Given the description of an element on the screen output the (x, y) to click on. 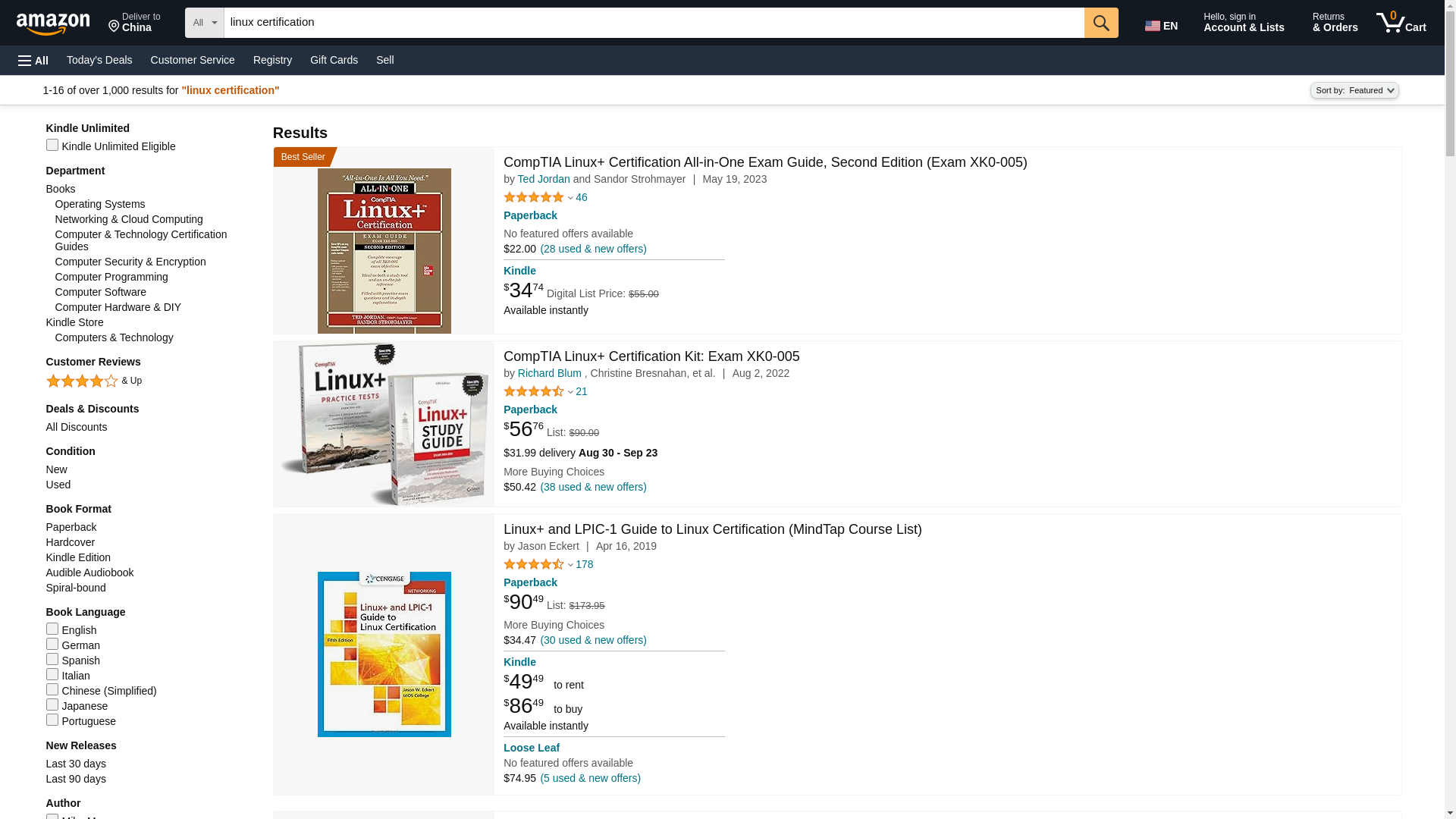
Go (1101, 22)
Sell (384, 59)
linux certification (654, 22)
All (1401, 22)
21 (33, 60)
Kindle (581, 391)
Skip to main content (519, 270)
Gift Cards (60, 21)
178 (333, 59)
46 (583, 564)
Paperback (581, 197)
EN (530, 582)
Paperback (1163, 22)
Richard Blum (530, 215)
